Given the description of an element on the screen output the (x, y) to click on. 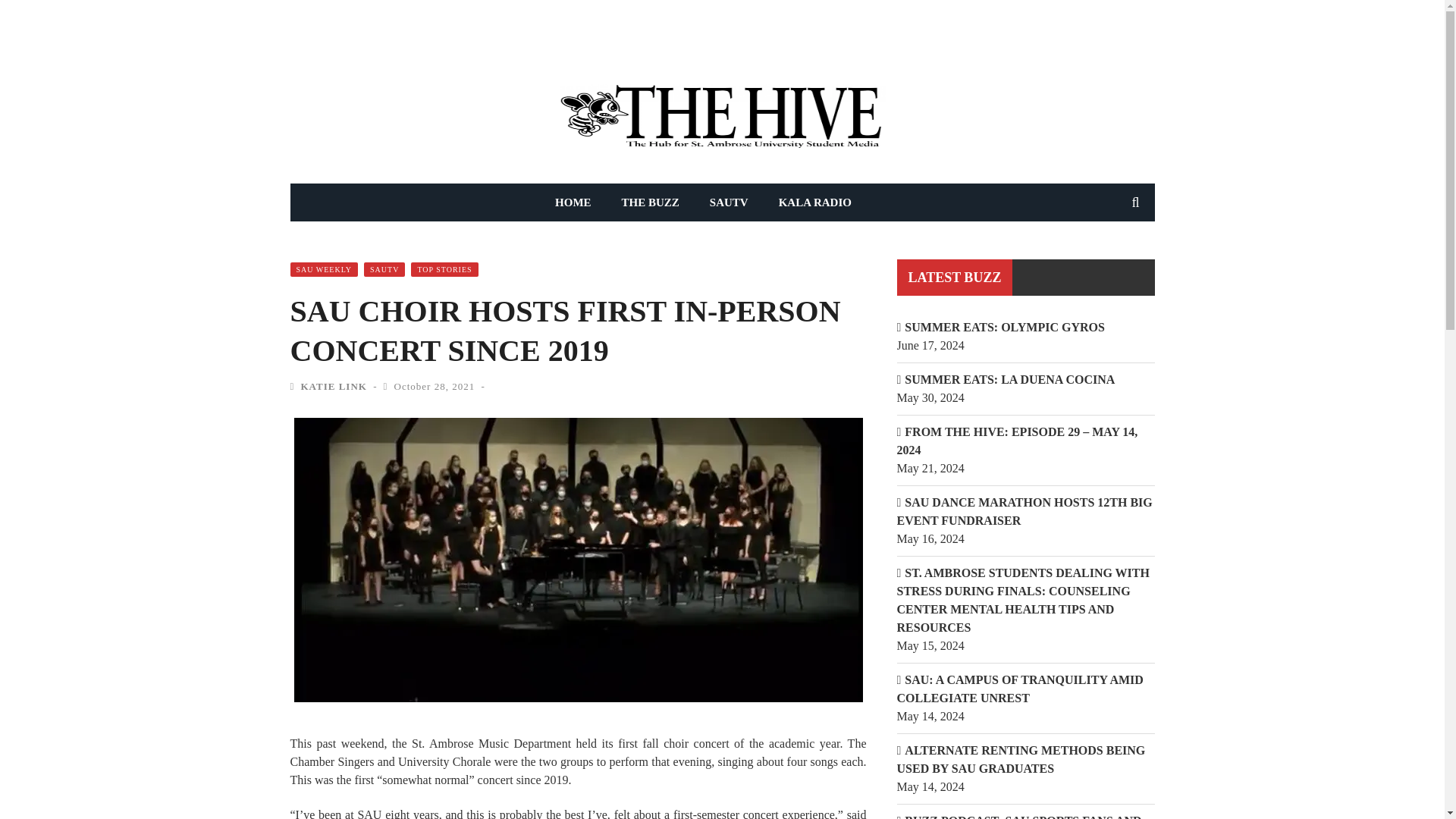
HOME (573, 202)
THE BUZZ (650, 202)
Posts by Katie Link (332, 386)
WELCOME TO THE HIVE (358, 36)
CONTACT US (579, 36)
KALA RADIO (814, 202)
SAUTV (728, 202)
ABOUT THE HIVE (481, 36)
